Given the description of an element on the screen output the (x, y) to click on. 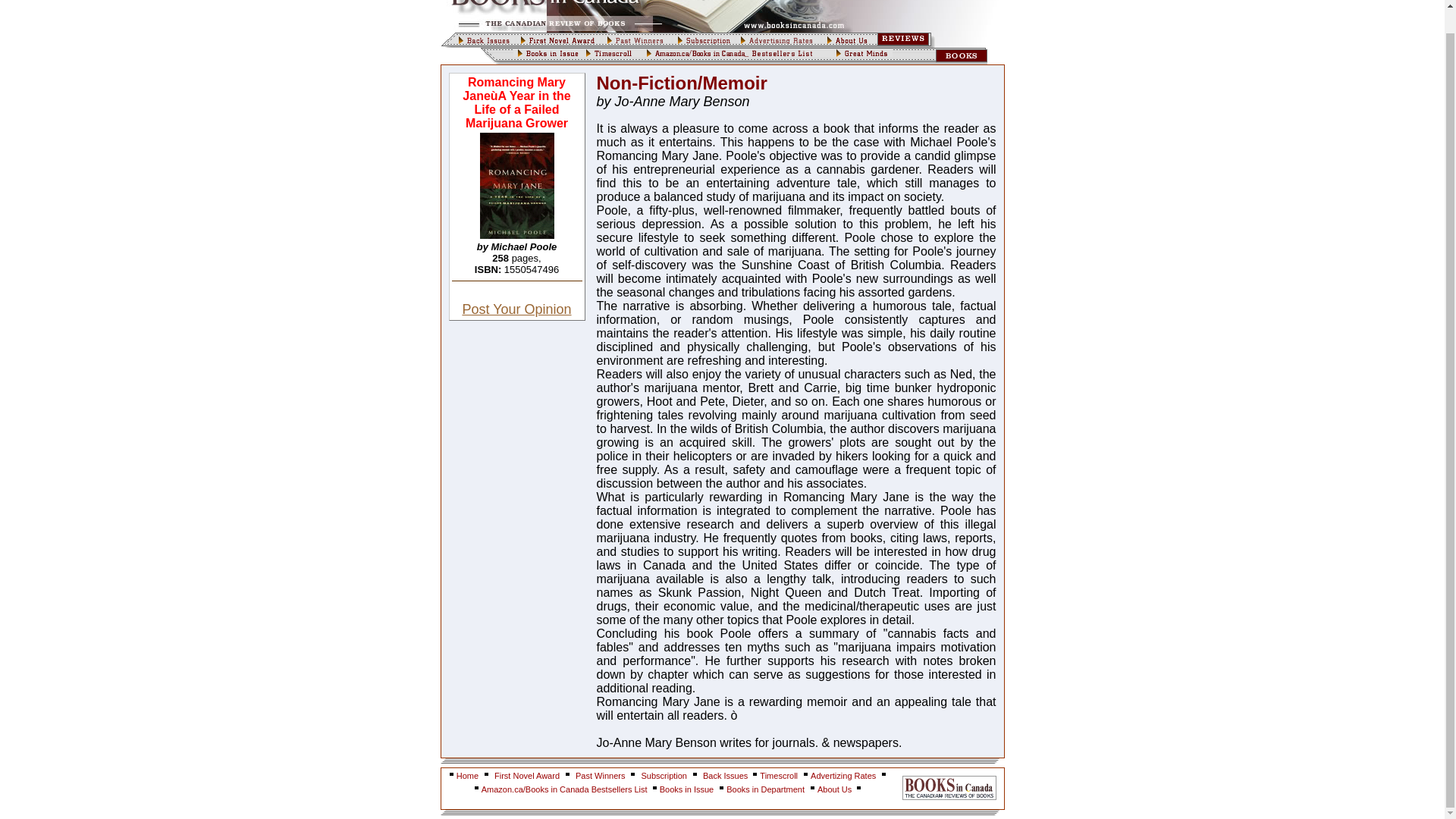
Home (468, 775)
Subscription (663, 775)
Books in Department (765, 788)
Post Your Opinion (515, 309)
Timescroll (778, 775)
Advertizing Rates (843, 775)
First Novel Award (527, 775)
Home (468, 775)
Subscription (663, 775)
Back Issues (726, 775)
Books in Issue (686, 788)
Books in Department (765, 788)
Past Winners (599, 775)
Past Winners (599, 775)
About Us (834, 788)
